Given the description of an element on the screen output the (x, y) to click on. 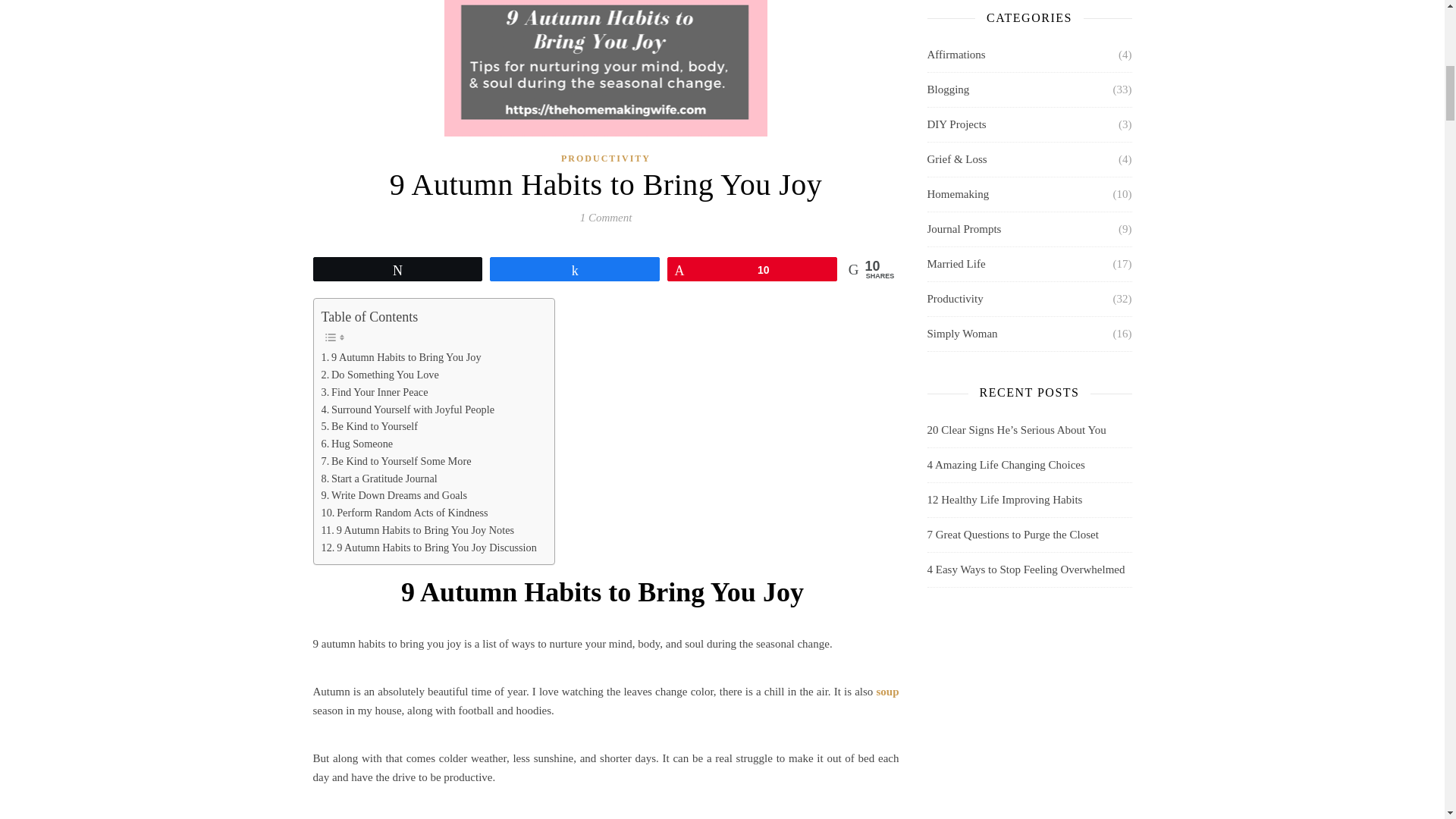
PRODUCTIVITY (605, 158)
Surround Yourself with Joyful People  (409, 408)
Do Something You Love  (381, 375)
9 Autumn Habits to Bring You Joy Discussion  (430, 547)
Be Kind to Yourself Some More  (397, 461)
1 Comment (605, 217)
10 (751, 268)
Be Kind to Yourself  (370, 425)
